Given the description of an element on the screen output the (x, y) to click on. 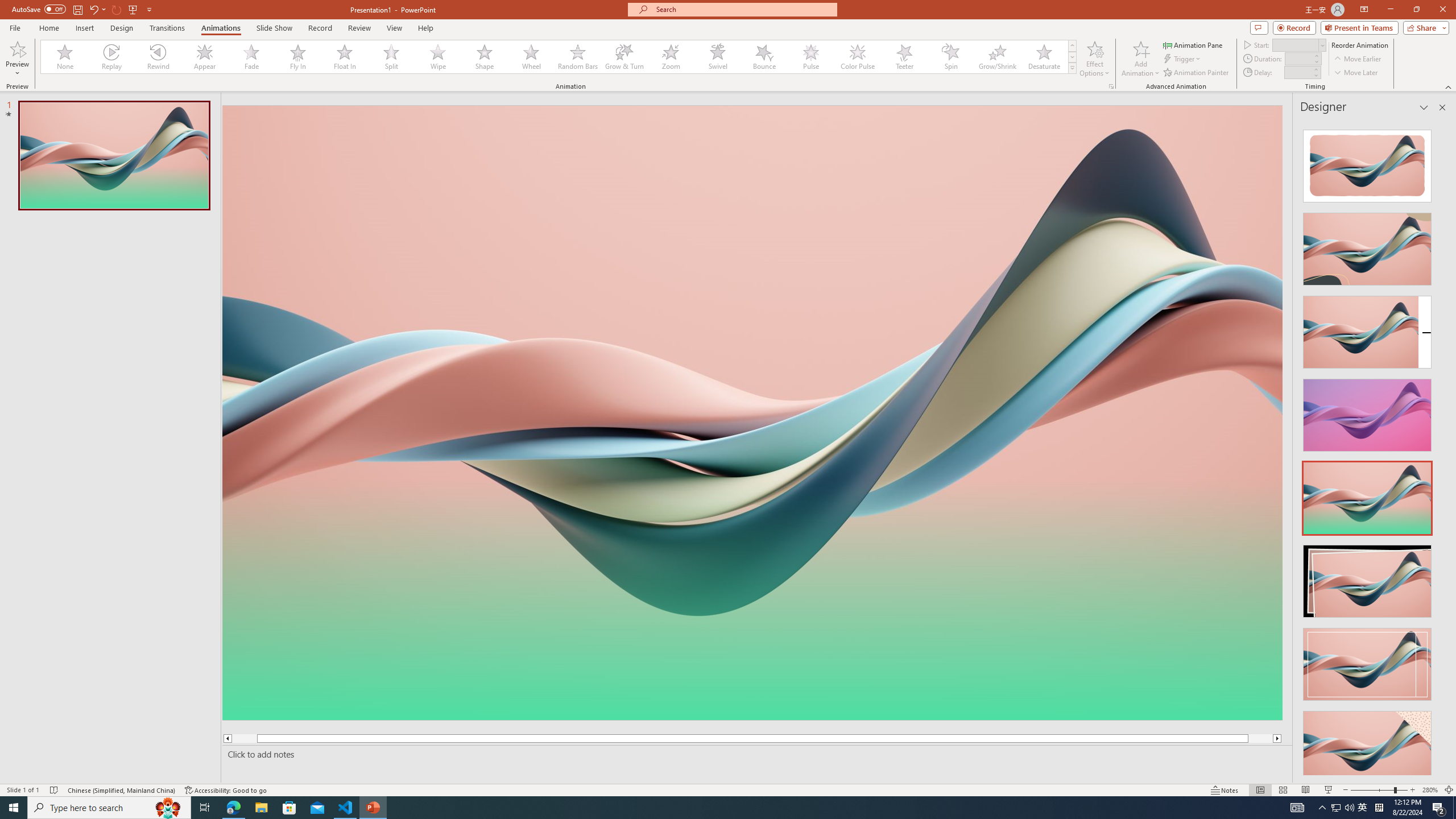
Wavy 3D art (752, 412)
Spin (950, 56)
Float In (344, 56)
Animation Styles (1071, 67)
Trigger (1182, 58)
Color Pulse (857, 56)
